Given the description of an element on the screen output the (x, y) to click on. 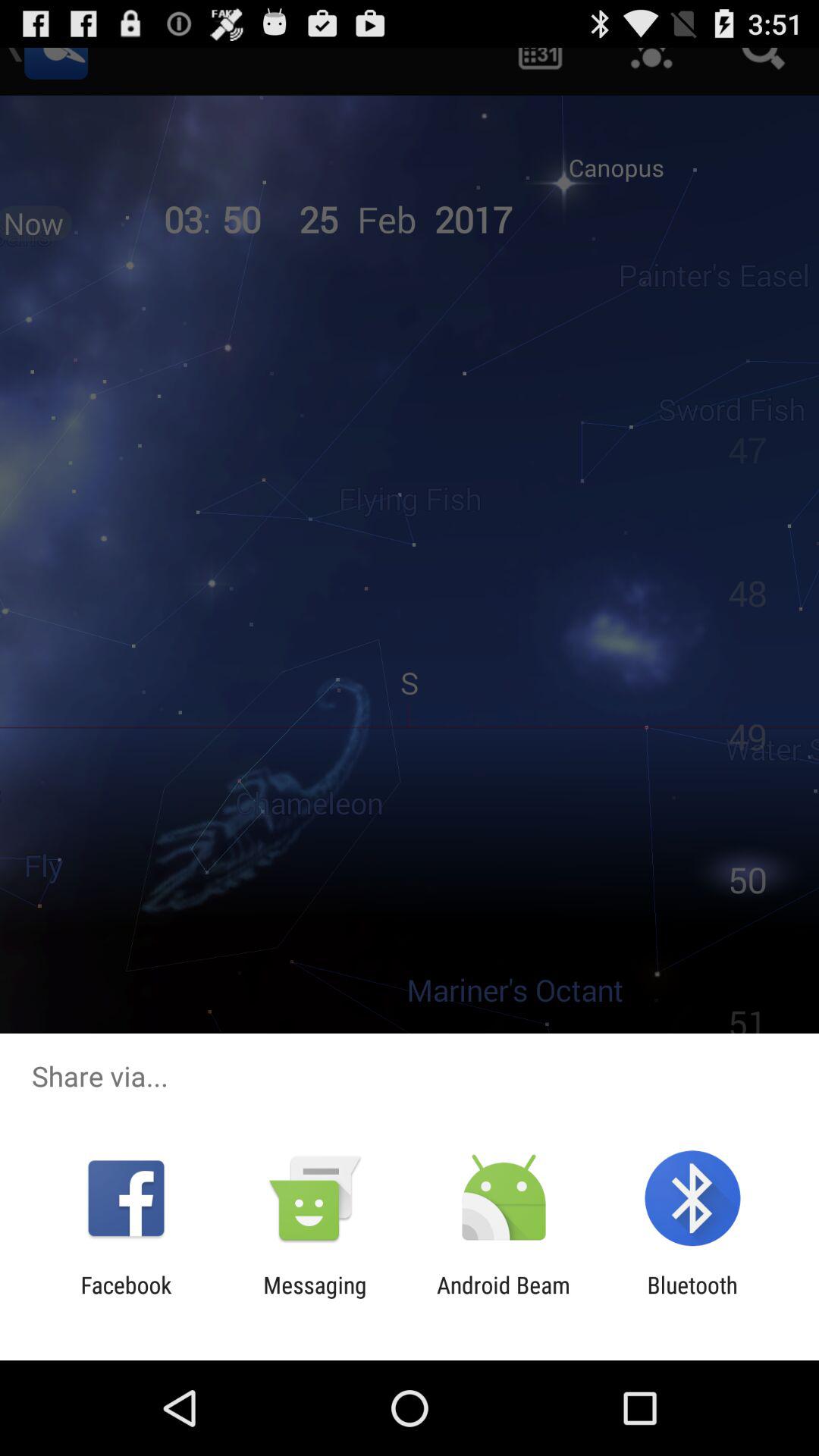
press the item next to android beam app (314, 1298)
